Given the description of an element on the screen output the (x, y) to click on. 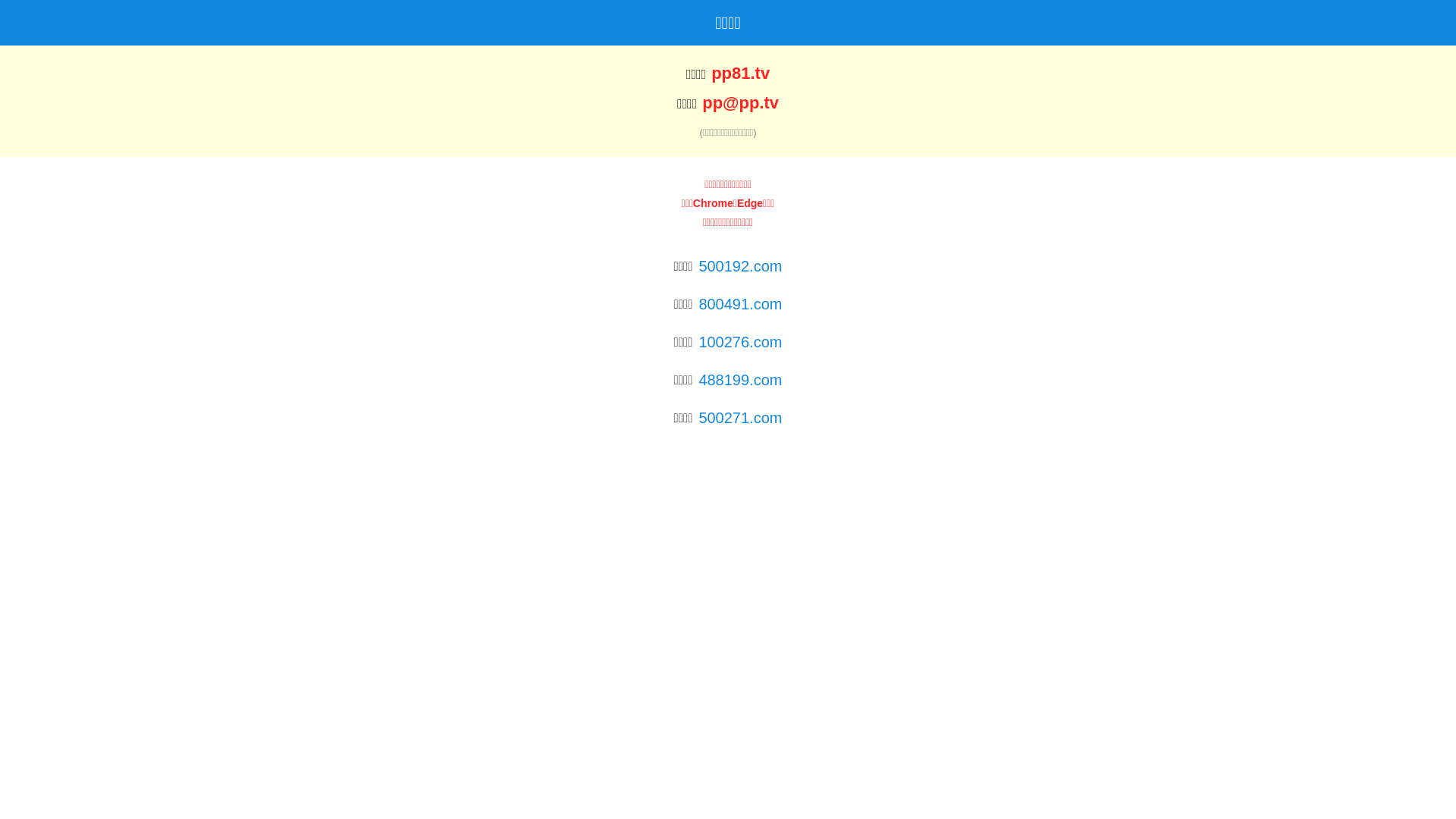
100276.com Element type: text (739, 341)
800491.com Element type: text (739, 303)
500192.com Element type: text (739, 265)
500271.com Element type: text (739, 417)
488199.com Element type: text (739, 379)
